Given the description of an element on the screen output the (x, y) to click on. 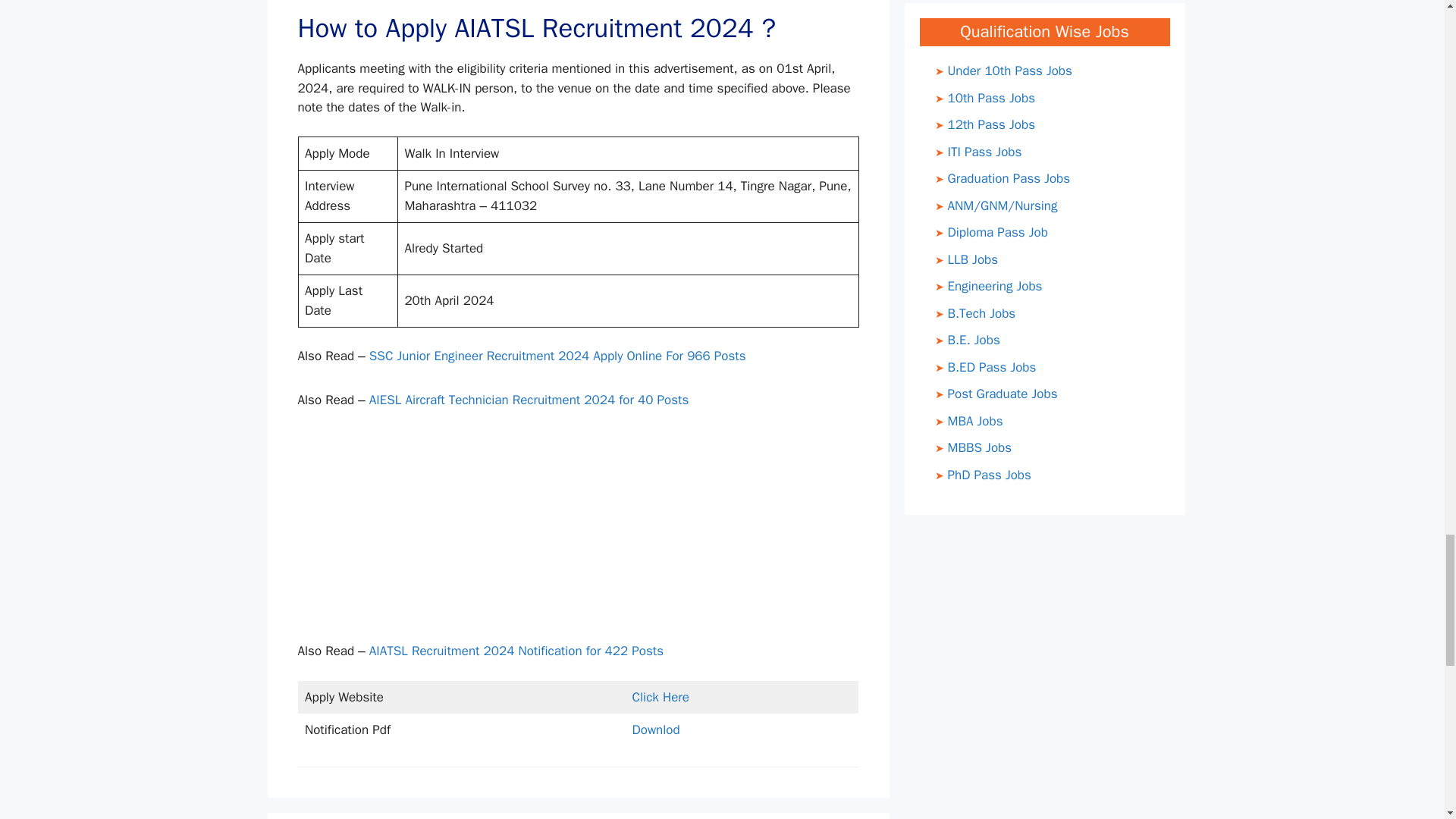
AIESL Aircraft Technician Recruitment 2024 for 40 Posts (528, 399)
AIATSL Recruitment 2024 Notification for 422 Posts (516, 650)
